Given the description of an element on the screen output the (x, y) to click on. 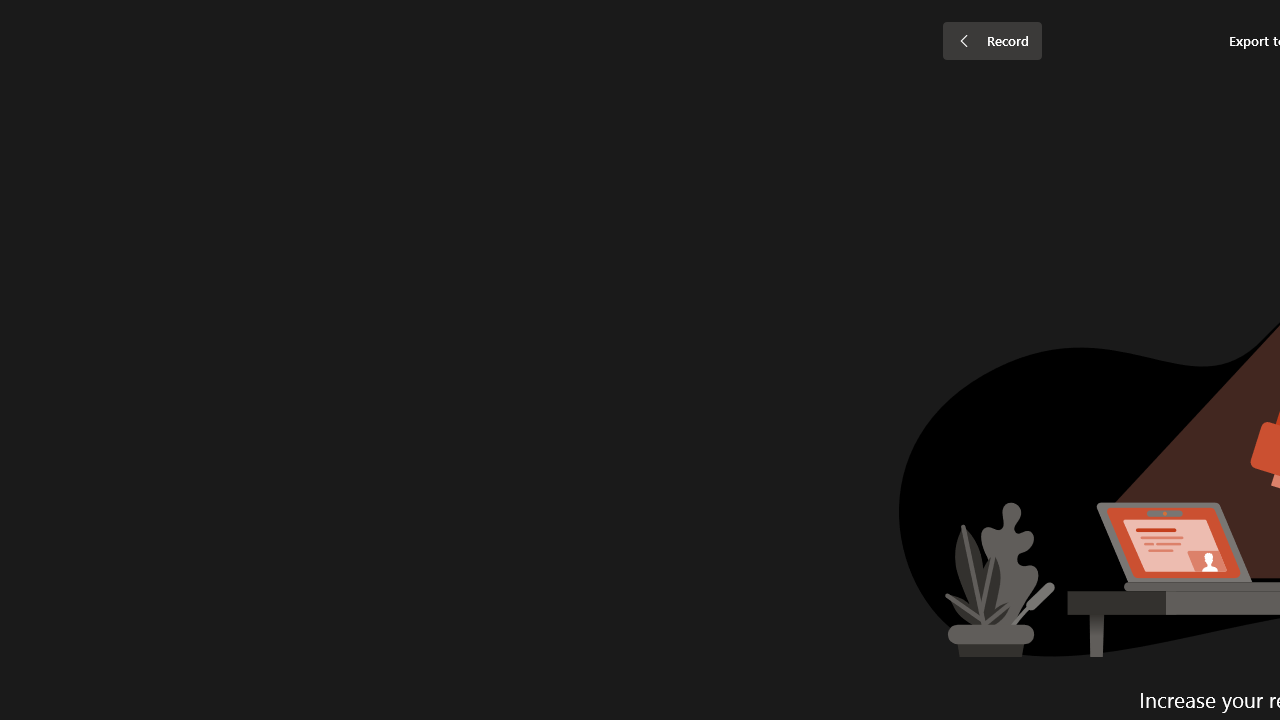
Clear Recording (412, 102)
Save as Show (539, 102)
